Given the description of an element on the screen output the (x, y) to click on. 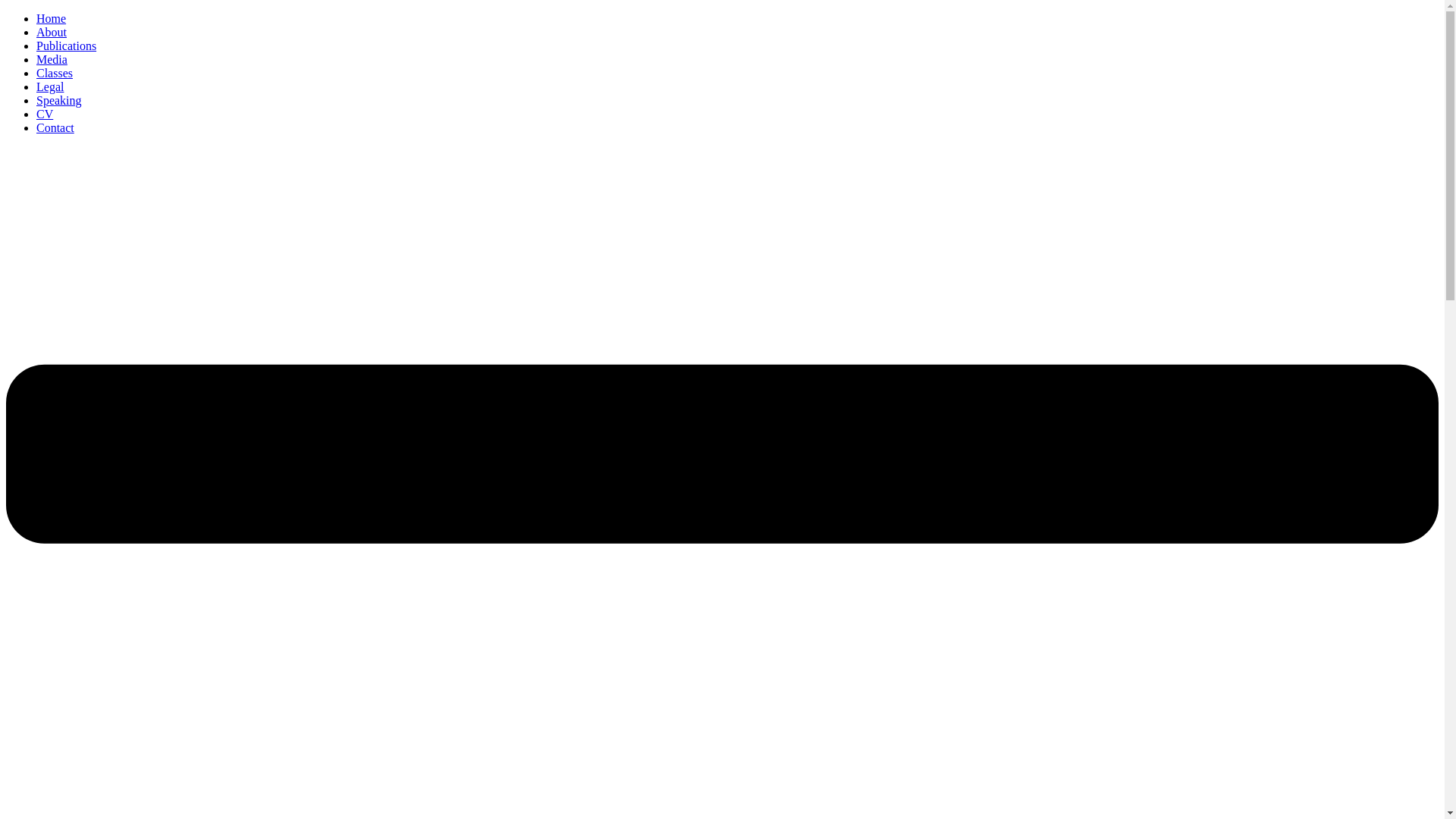
Publications (66, 45)
Home (50, 18)
About (51, 31)
Legal (50, 86)
Contact (55, 127)
Classes (54, 72)
CV (44, 113)
Speaking (58, 100)
Media (51, 59)
